Given the description of an element on the screen output the (x, y) to click on. 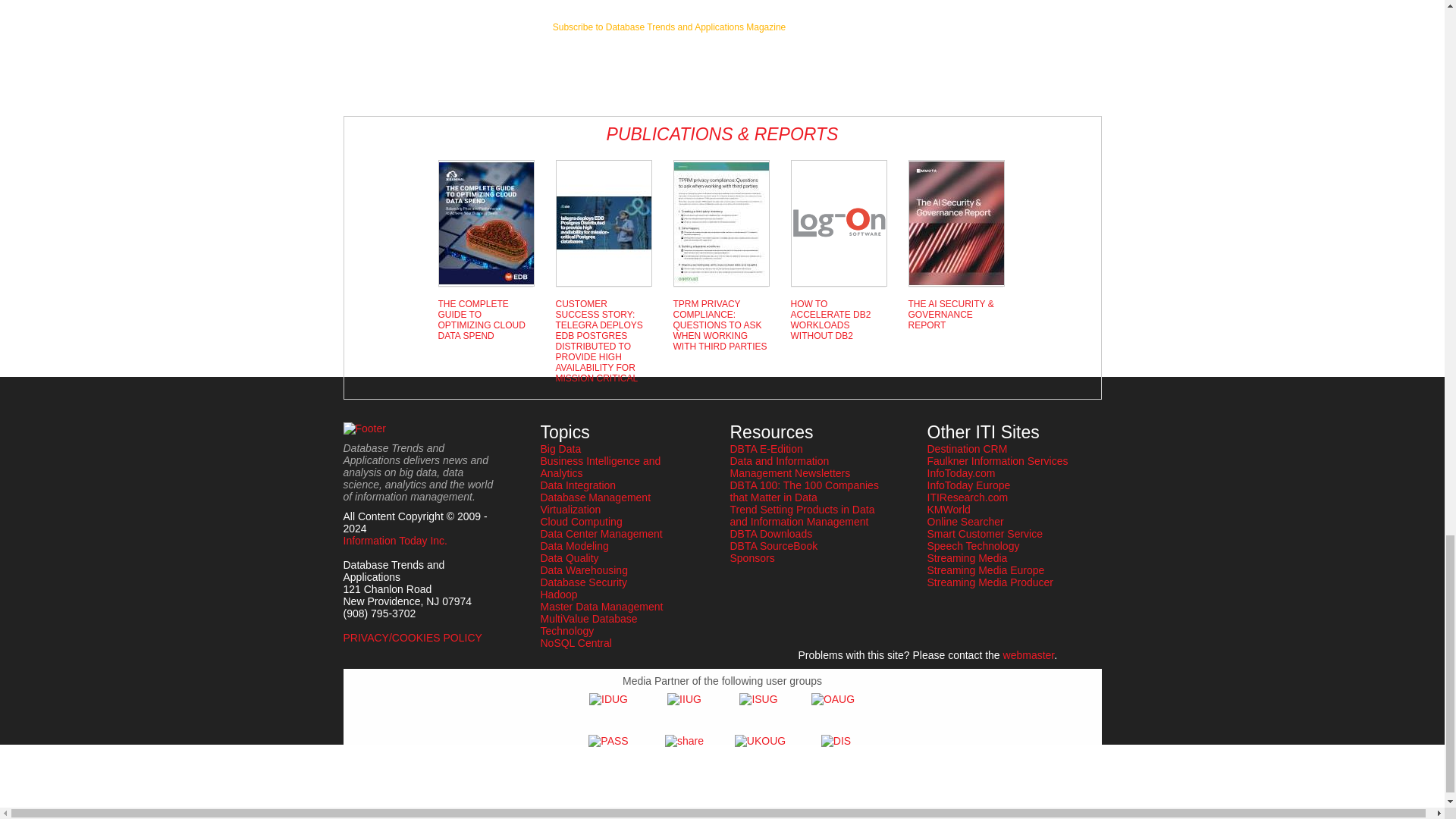
3rd party ad content (668, 62)
3rd party ad content (403, 43)
